Given the description of an element on the screen output the (x, y) to click on. 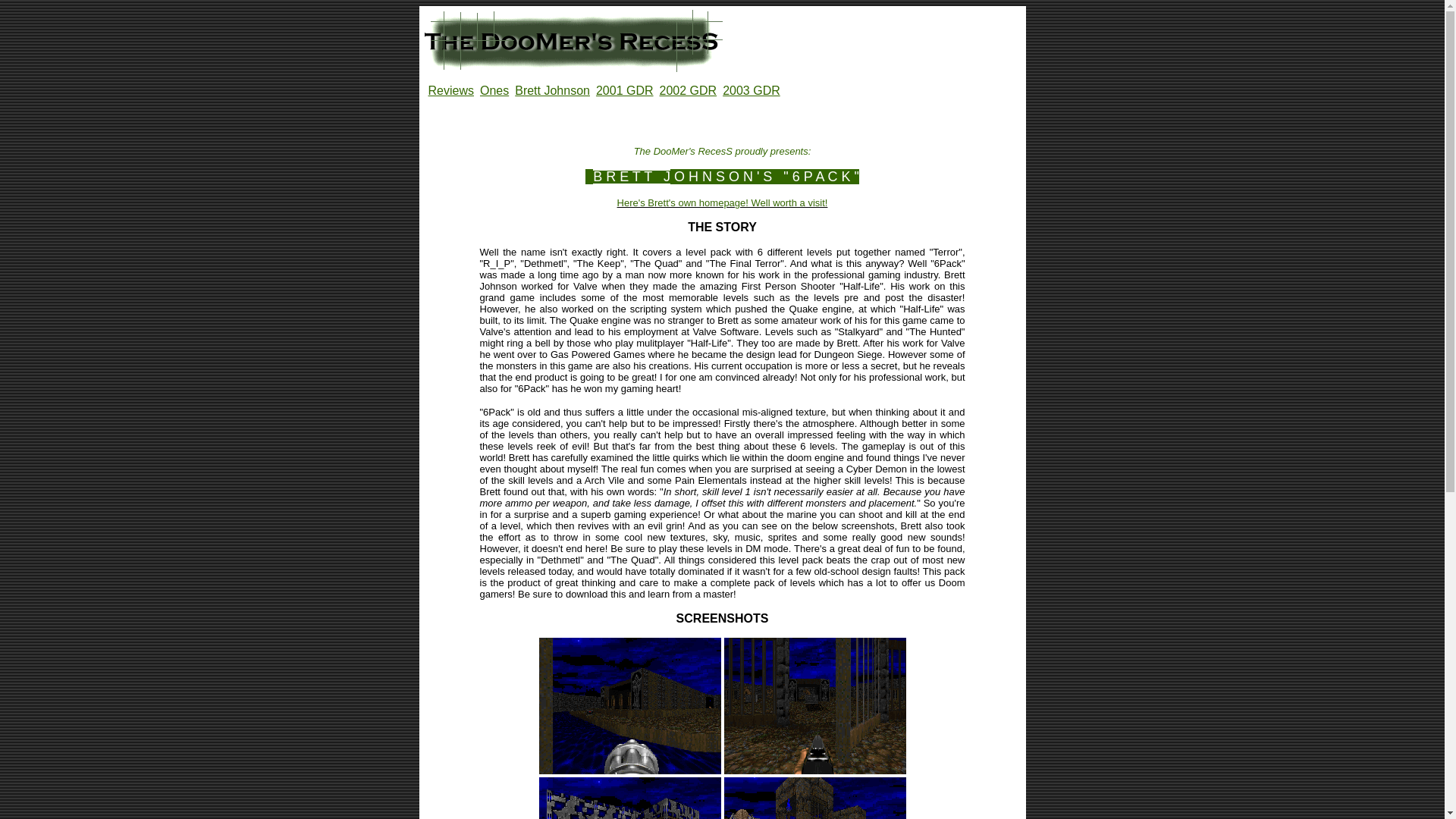
Brett Johnson (552, 90)
2002 GDR (688, 90)
Ones (494, 90)
Here's Brett's own homepage! Well worth a visit! (722, 202)
2001 GDR (624, 90)
2003 GDR (751, 90)
Reviews (450, 90)
